Given the description of an element on the screen output the (x, y) to click on. 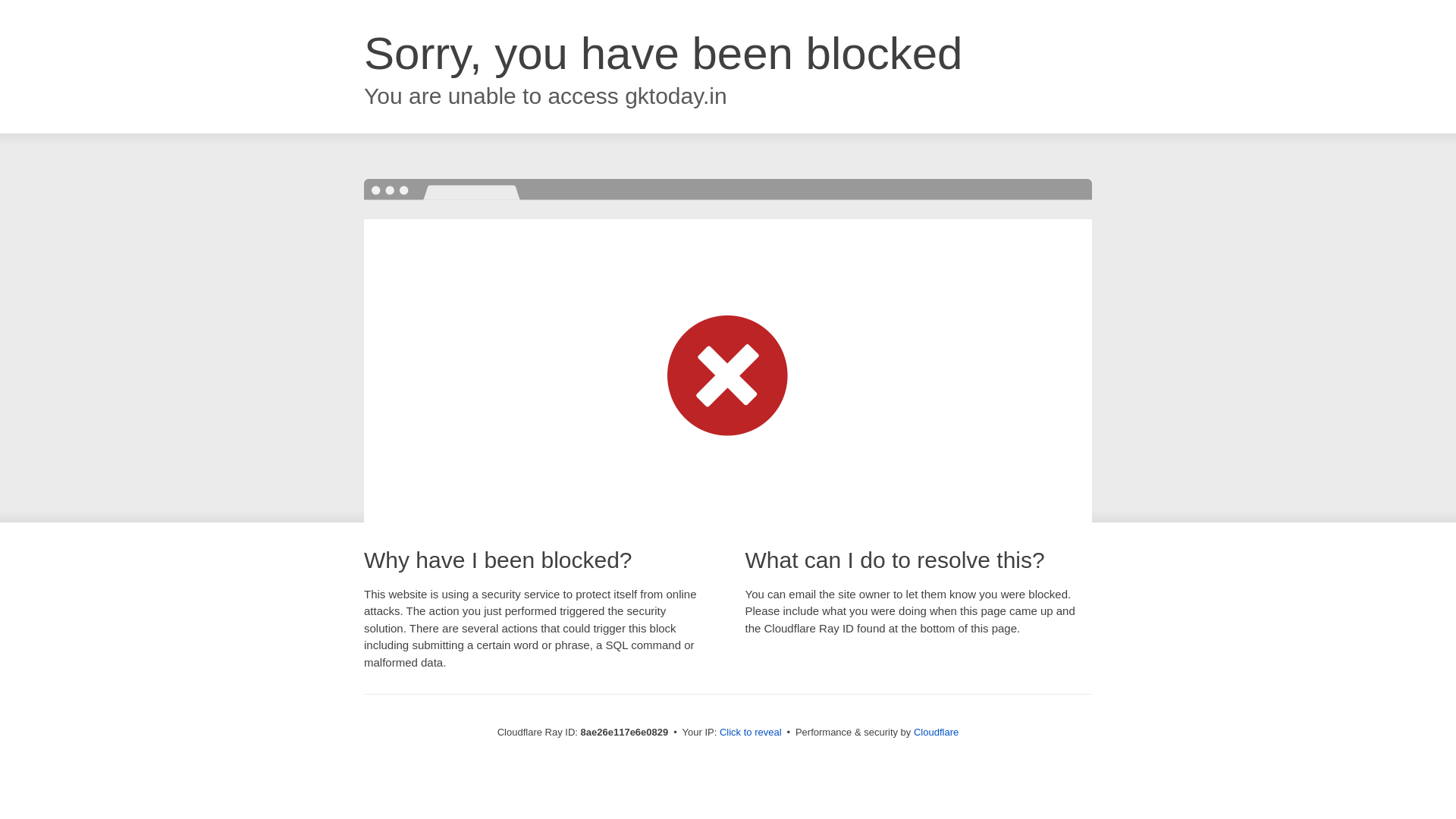
Cloudflare (936, 731)
Click to reveal (750, 732)
